Given the description of an element on the screen output the (x, y) to click on. 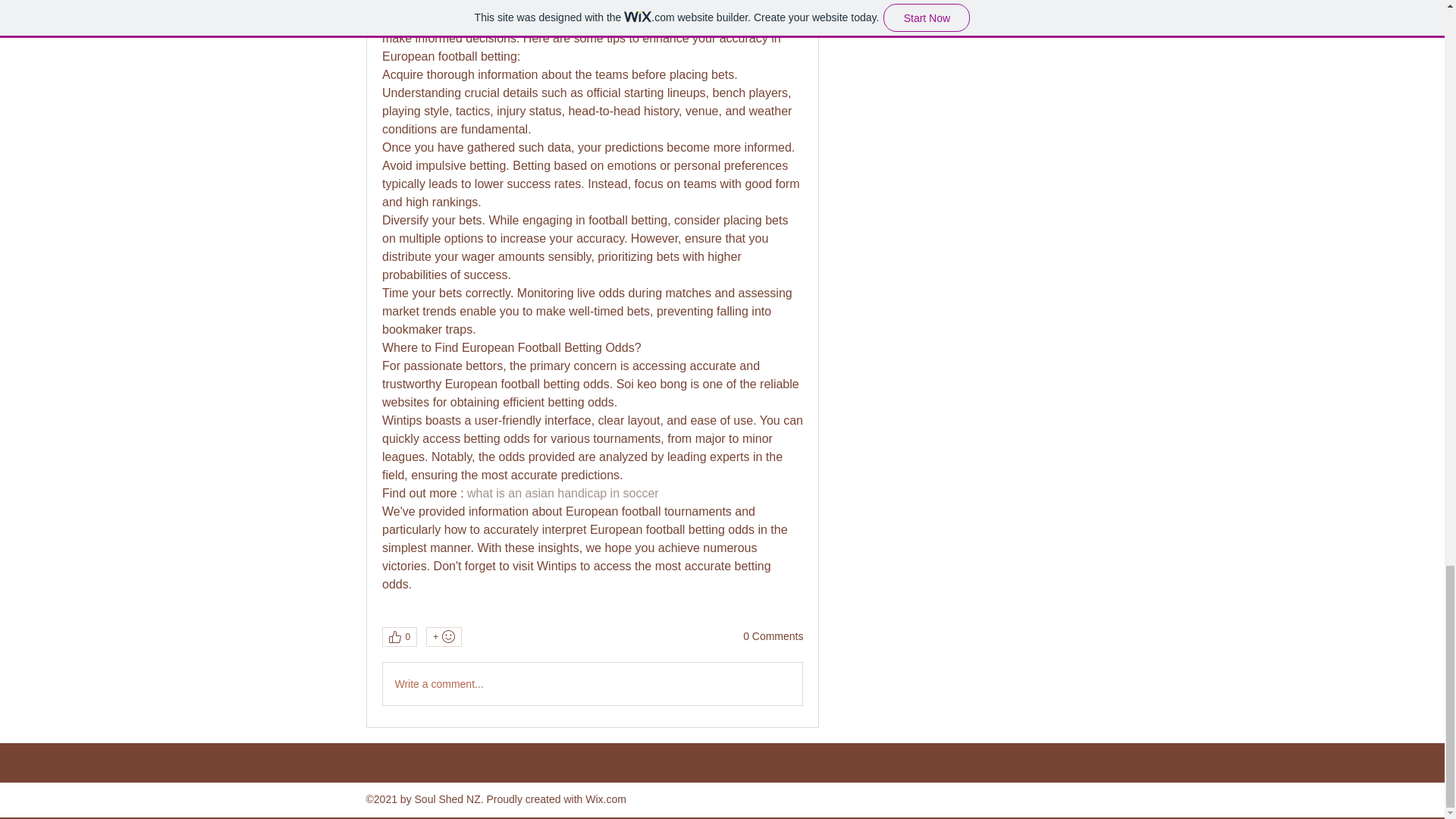
0 Comments (772, 636)
Write a comment... (591, 683)
what is an asian handicap in soccer (563, 492)
